Given the description of an element on the screen output the (x, y) to click on. 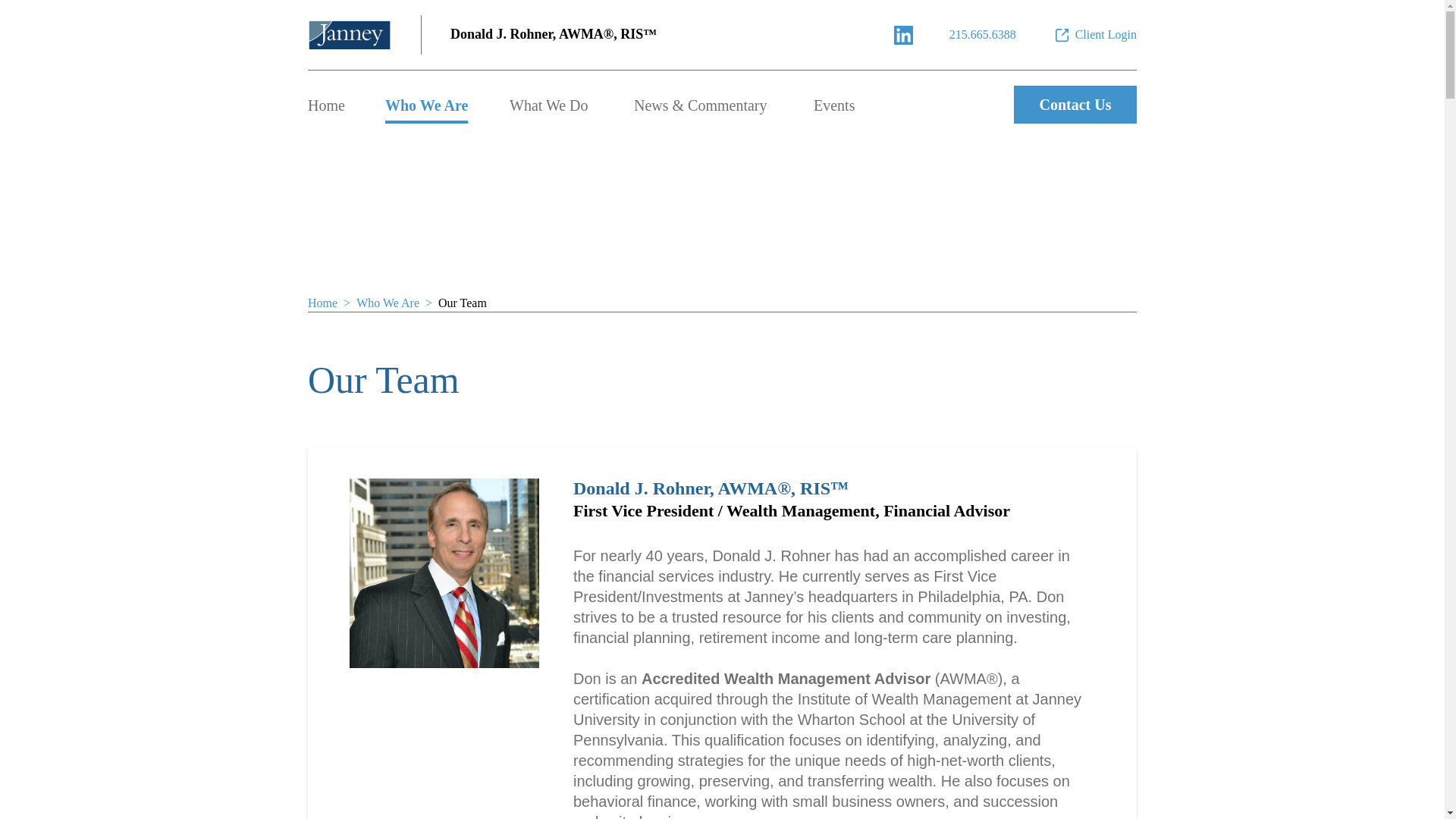
Home (326, 105)
Contact Us (1075, 104)
What We Do (548, 105)
215.665.6388 (982, 34)
Who We Are (426, 105)
contact-link (982, 34)
Client Login (1094, 34)
janney-header-logo (349, 34)
Who We Are (387, 302)
